Given the description of an element on the screen output the (x, y) to click on. 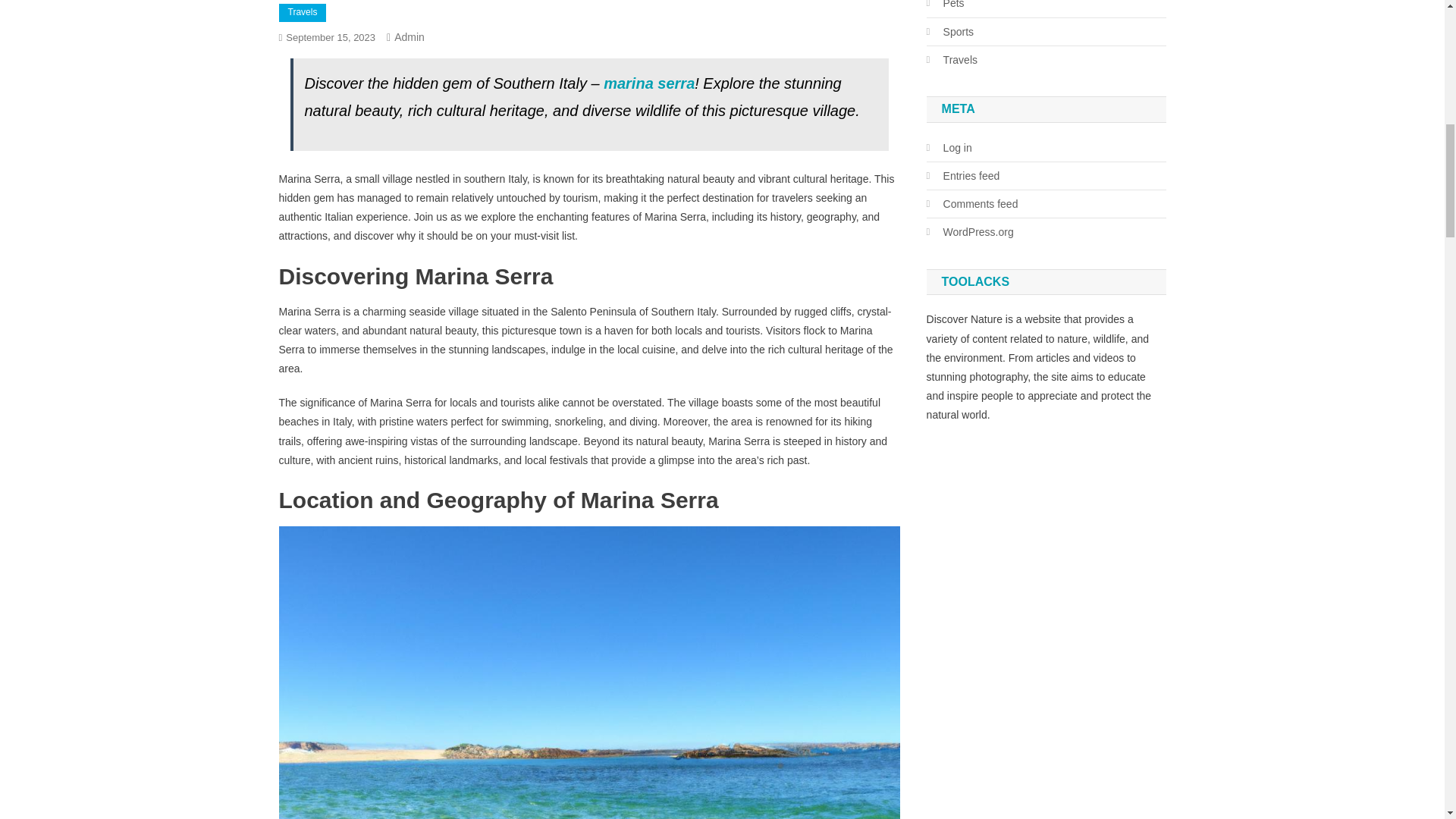
Travels (302, 13)
marina serra (649, 83)
Admin (409, 37)
September 15, 2023 (330, 37)
